Given the description of an element on the screen output the (x, y) to click on. 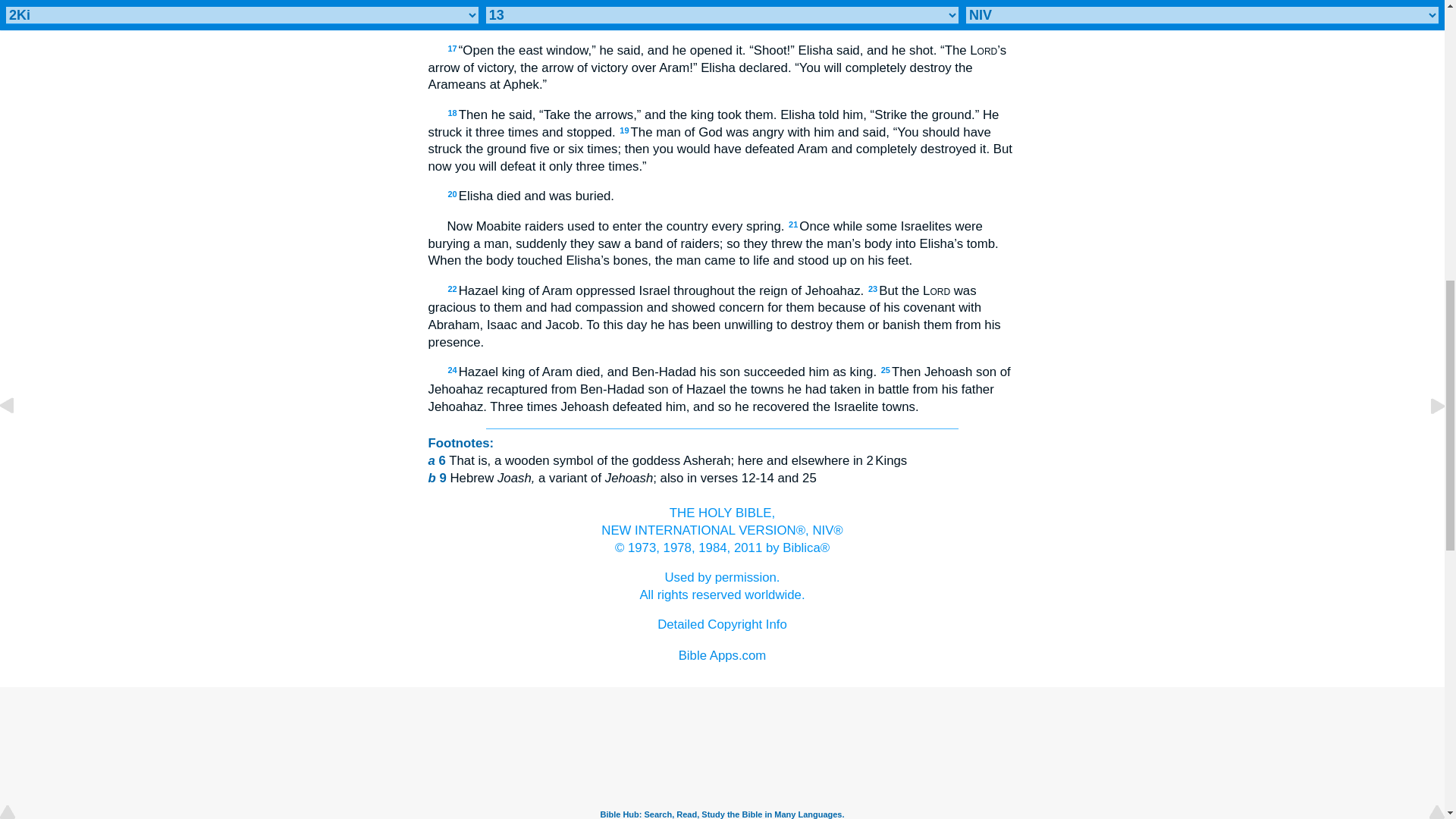
25 (884, 369)
24 (451, 369)
18 (451, 112)
20 (451, 194)
Bible Apps.com (722, 655)
17 (451, 48)
23 (872, 288)
15 (451, 2)
22 (451, 288)
16 (790, 2)
Top of Page (722, 585)
21 (18, 1)
Detailed Copyright Info (793, 224)
19 (722, 624)
